Given the description of an element on the screen output the (x, y) to click on. 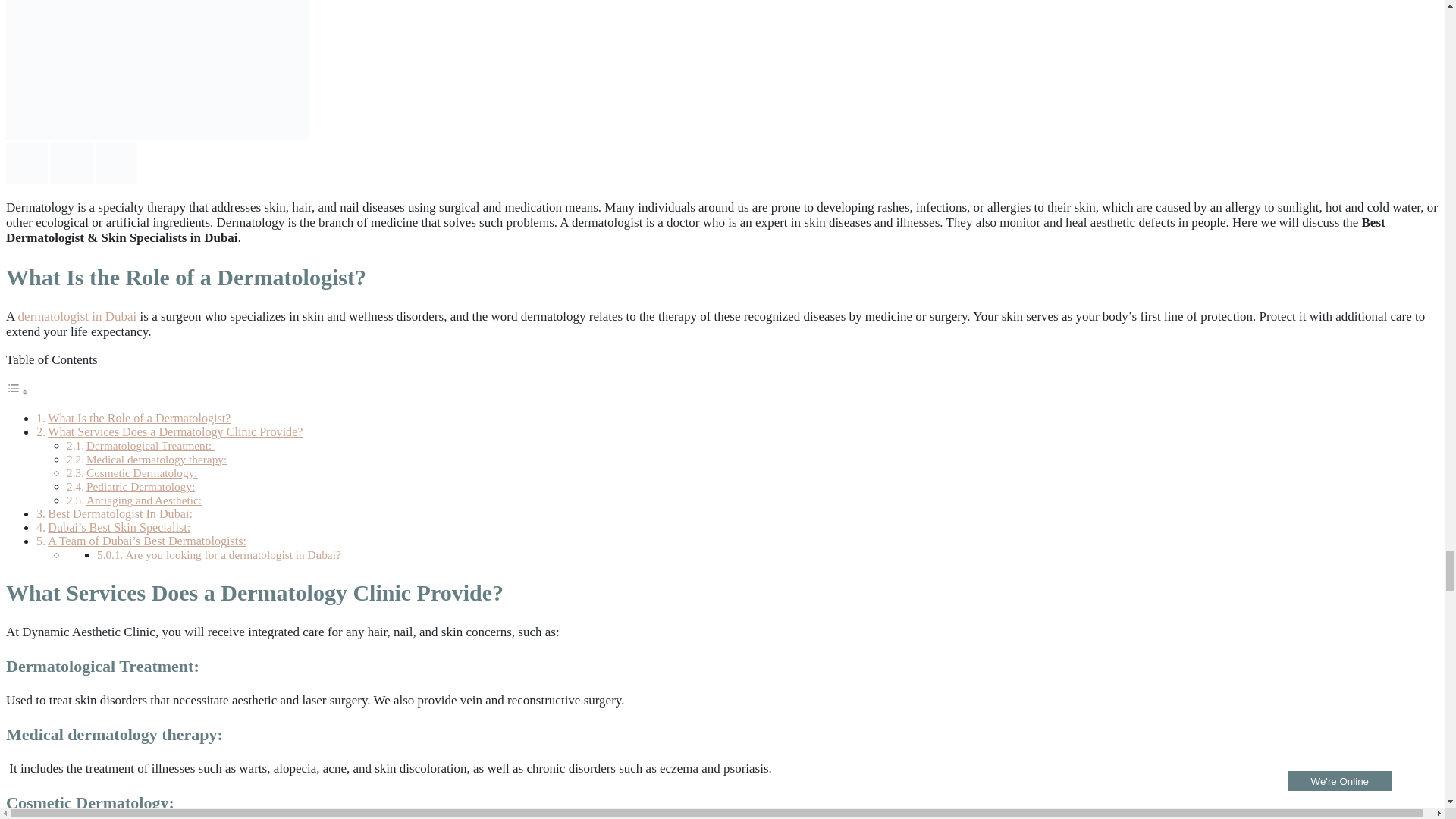
What Is the Role of a Dermatologist? (139, 418)
Best Dermatologist In Dubai: (120, 513)
Are you looking for a dermatologist in Dubai? (232, 554)
Medical dermatology therapy: (156, 459)
Pediatric Dermatology: (140, 486)
Antiaging and Aesthetic: (143, 499)
Cosmetic Dermatology: (141, 472)
What Services Does a Dermatology Clinic Provide? (175, 431)
